Given the description of an element on the screen output the (x, y) to click on. 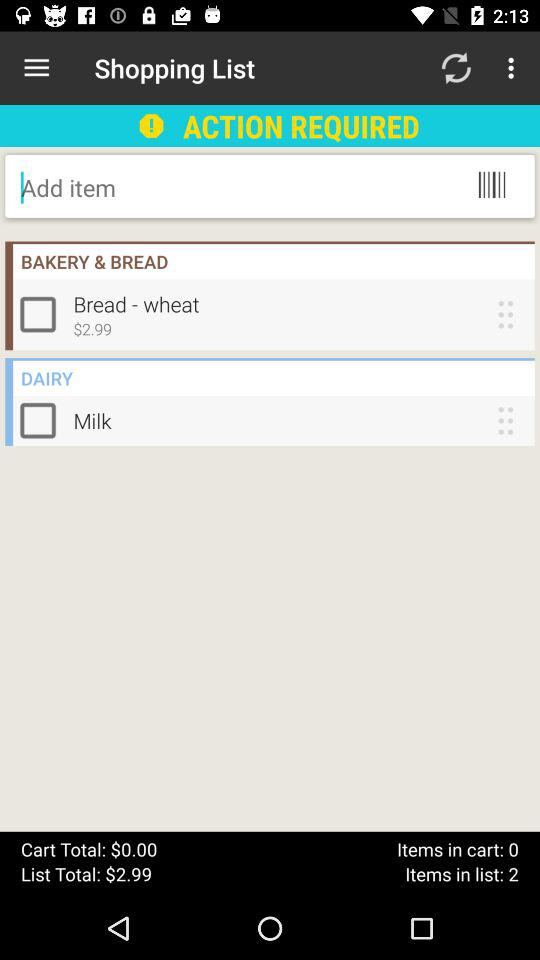
toggle search bar (181, 187)
